Given the description of an element on the screen output the (x, y) to click on. 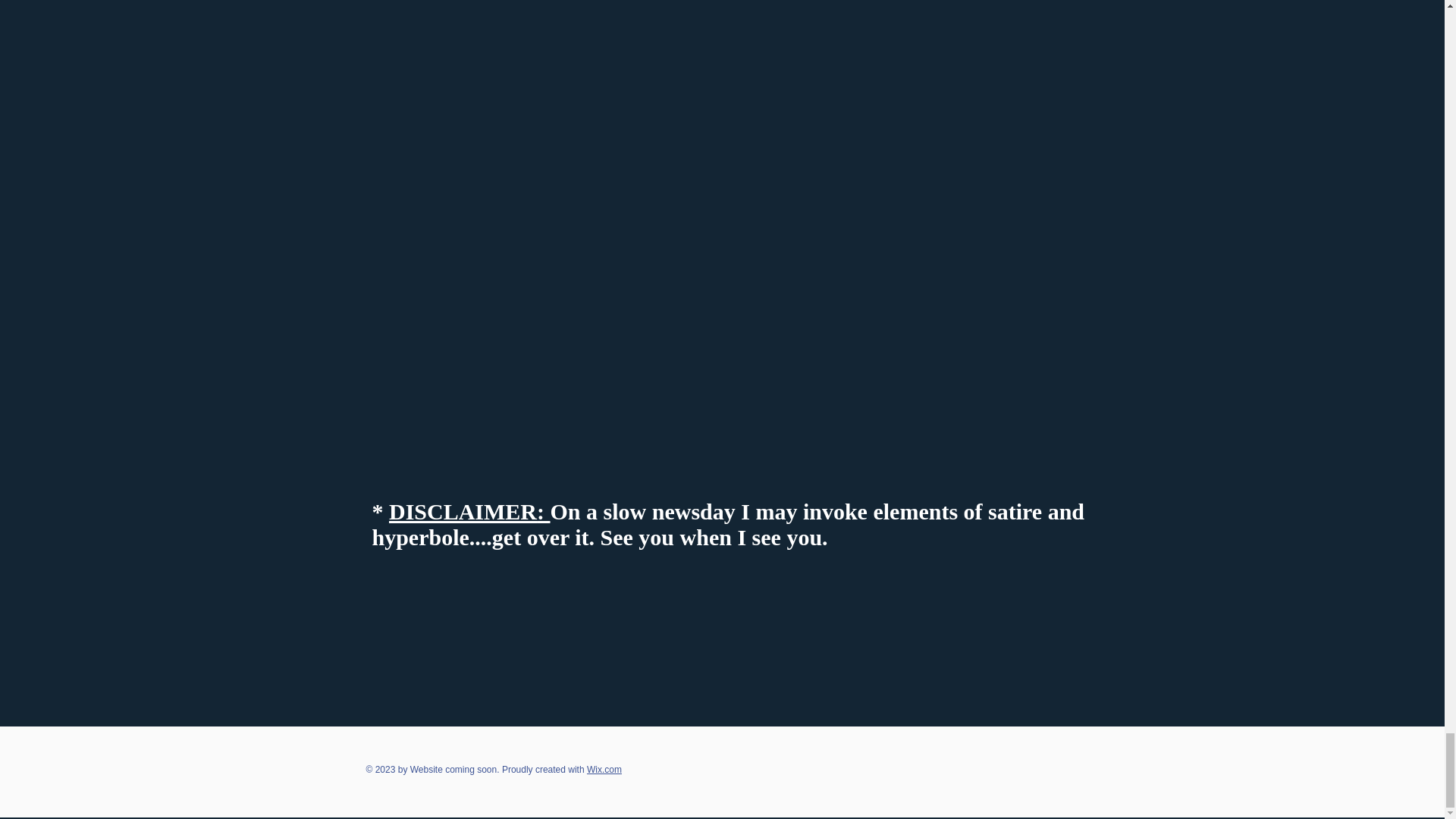
Wix.com (603, 769)
